Given the description of an element on the screen output the (x, y) to click on. 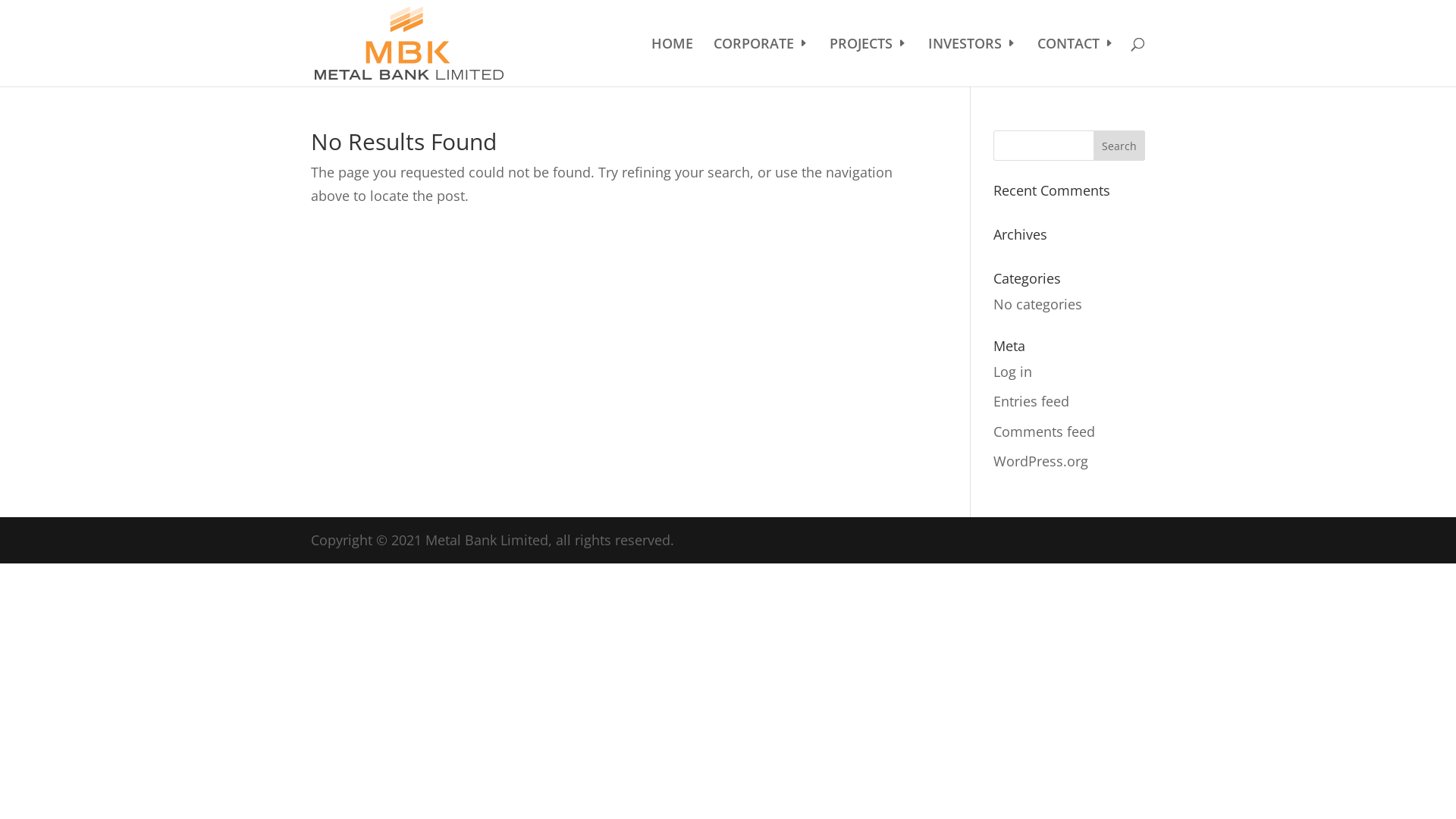
Entries feed Element type: text (1031, 401)
Search Element type: text (1119, 145)
Log in Element type: text (1012, 371)
Comments feed Element type: text (1044, 431)
PROJECTS Element type: text (868, 61)
CORPORATE Element type: text (761, 61)
WordPress.org Element type: text (1040, 460)
HOME Element type: text (672, 61)
CONTACT Element type: text (1075, 61)
INVESTORS Element type: text (972, 61)
